Given the description of an element on the screen output the (x, y) to click on. 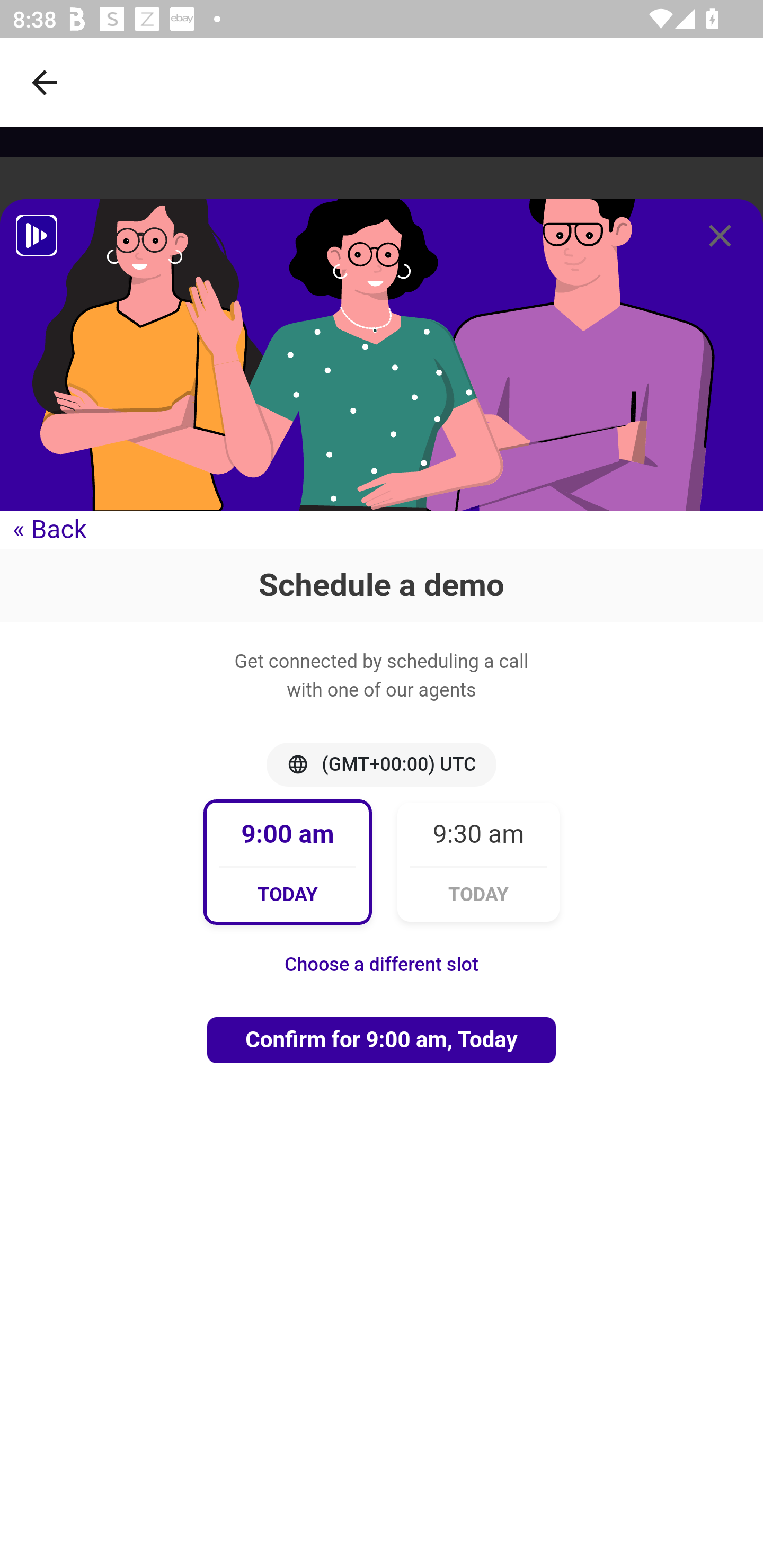
Navigate up (44, 82)
clear (720, 235)
« Back (49, 529)
language (GMT+00:00) UTC (381, 764)
9:00 am TODAY (287, 861)
9:30 am TODAY (478, 861)
Choose a different slot (381, 963)
Confirm for 9:00 am, Today (381, 1039)
